Given the description of an element on the screen output the (x, y) to click on. 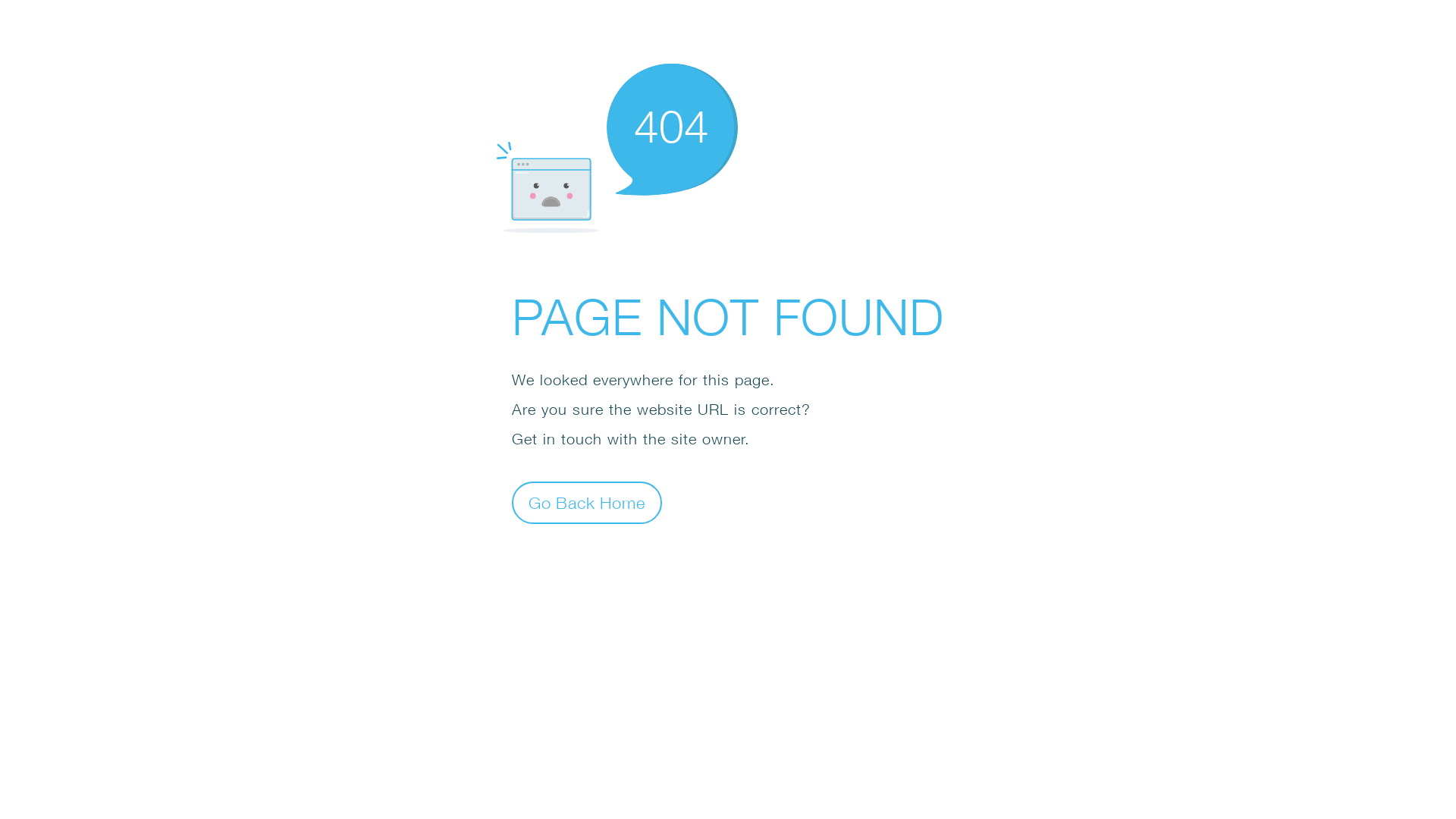
Go Back Home Element type: text (586, 502)
